Given the description of an element on the screen output the (x, y) to click on. 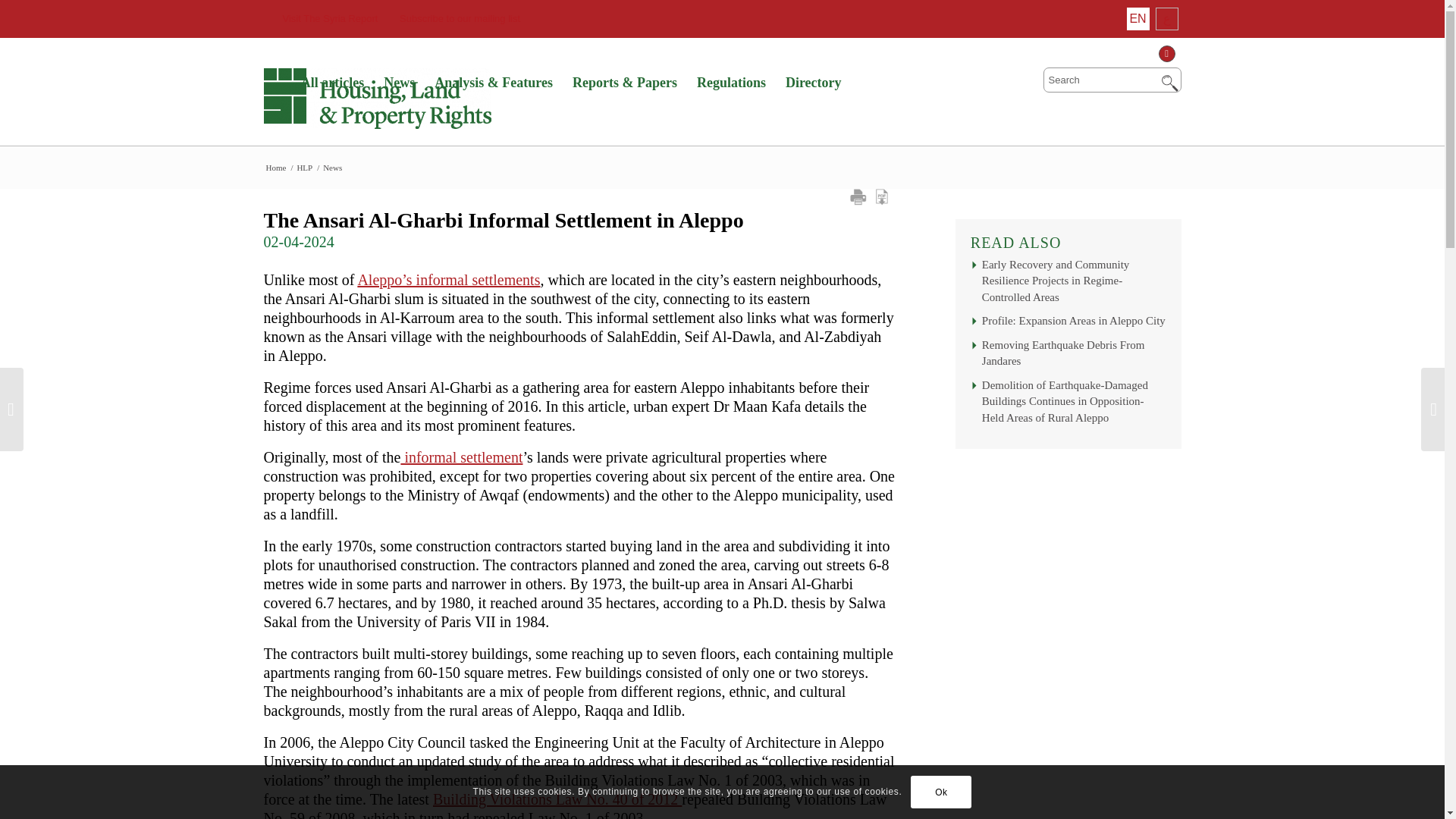
News (331, 167)
EN (1138, 18)
Twitter (1169, 52)
Directory (813, 82)
EN (1138, 18)
Search for: (1111, 79)
All articles (332, 82)
Regulations (731, 82)
Building Violations Law No. 40 of 2012 (556, 799)
Visit The Syria Report (320, 18)
Home (275, 167)
HLP (304, 167)
Subscribe to our mailing list (449, 18)
The Ansari Al-Gharbi Informal Settlement in Aleppo (579, 221)
